Given the description of an element on the screen output the (x, y) to click on. 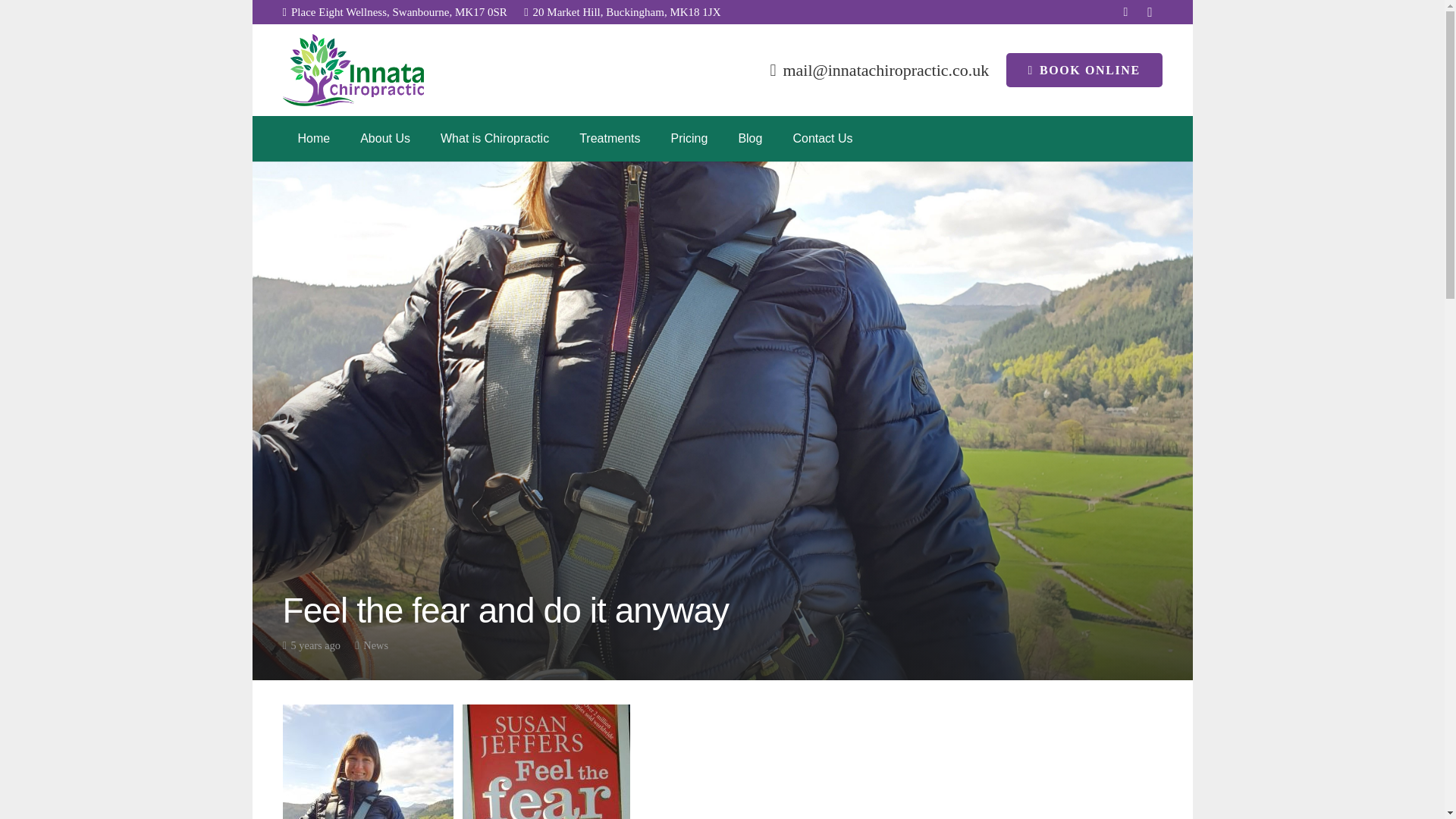
Treatments (609, 138)
Home (313, 138)
News (375, 645)
What is Chiropractic (494, 138)
Instagram (1149, 12)
Pricing (688, 138)
About Us (385, 138)
Facebook (1125, 12)
Contact Us (822, 138)
Blog (749, 138)
BOOK ONLINE (1083, 69)
